Given the description of an element on the screen output the (x, y) to click on. 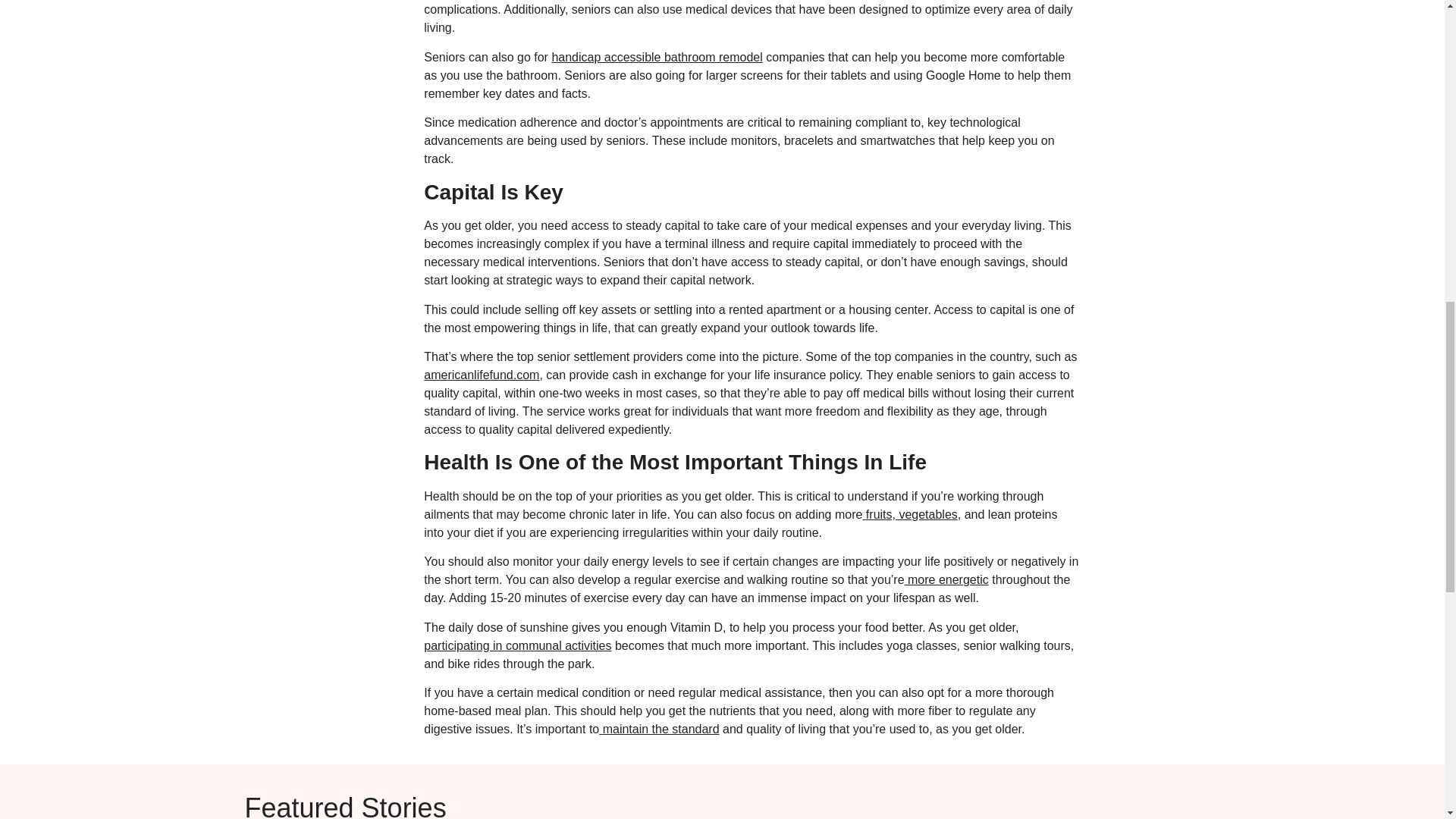
fruits, vegetables (908, 513)
handicap accessible bathroom remodel (656, 56)
americanlifefund.com (480, 374)
participating in communal activities (517, 645)
maintain the standard (658, 728)
more energetic (946, 579)
